Given the description of an element on the screen output the (x, y) to click on. 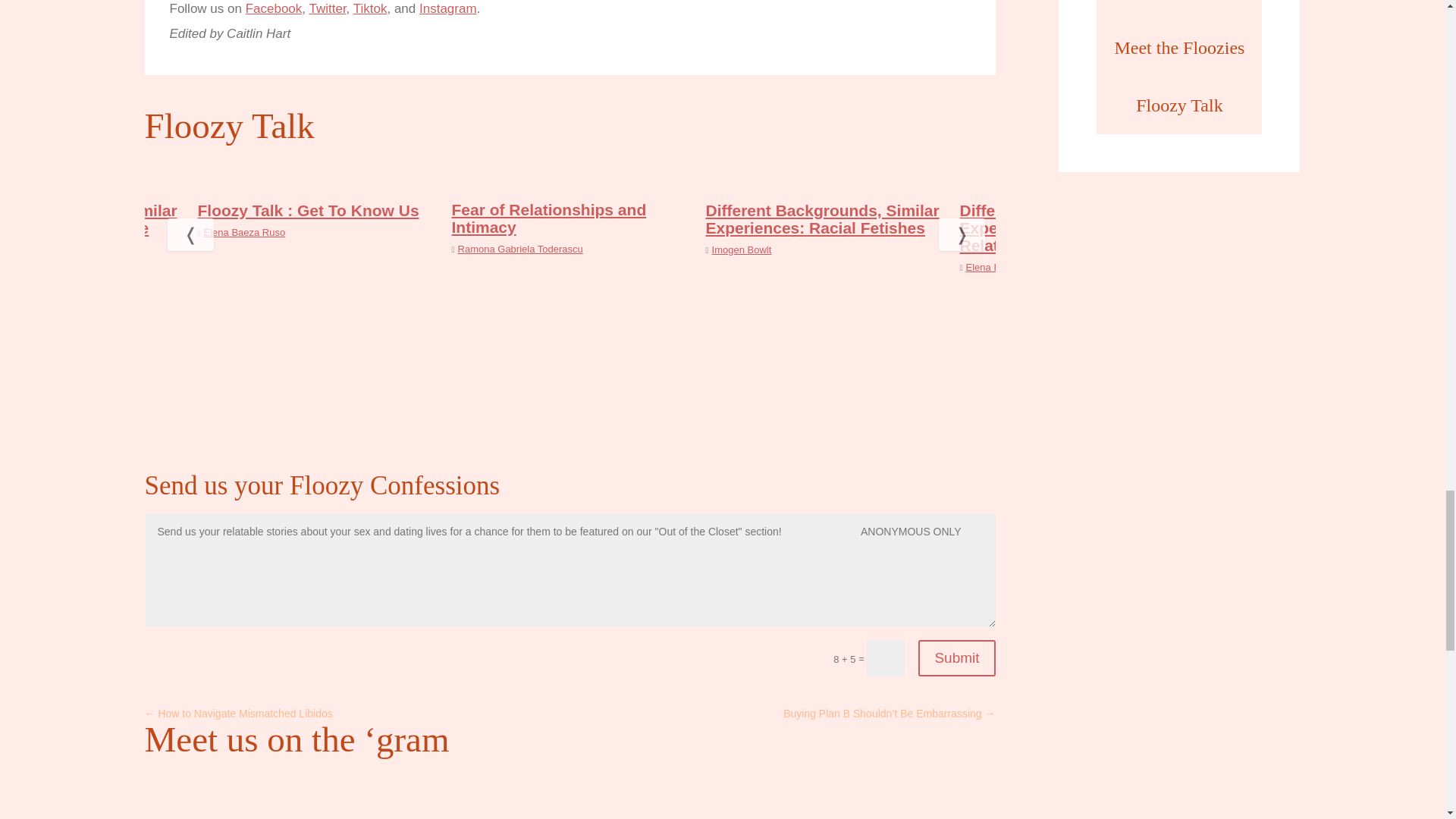
Facebook (274, 8)
Different Backgrounds, Similar Experiences: Racial Fetishes (821, 218)
Twitter (327, 8)
Fear of Relationships and Intimacy (548, 217)
Ramona Gabriela Toderascu (520, 248)
Tiktok (370, 8)
Previous (174, 233)
Elena Baeza Ruso (244, 232)
Instagram (448, 8)
Floozy Talk : Get To Know Us (307, 210)
